Given the description of an element on the screen output the (x, y) to click on. 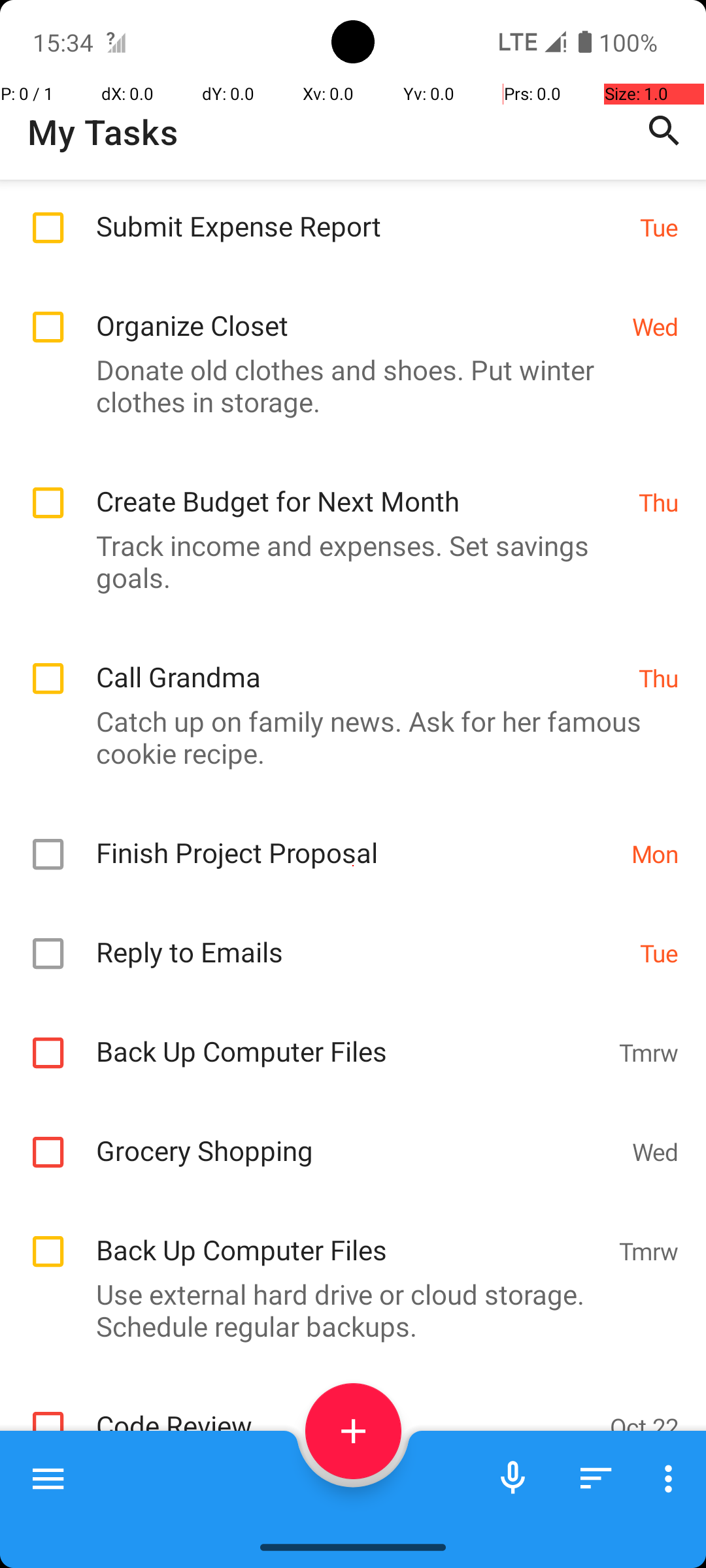
Catch up on family news. Ask for her famous cookie recipe. Element type: android.widget.TextView (346, 736)
Use external hard drive or cloud storage. Schedule regular backups. Element type: android.widget.TextView (346, 1309)
Code Review Element type: android.widget.TextView (346, 1411)
Oct 22 Element type: android.widget.TextView (644, 1426)
